Given the description of an element on the screen output the (x, y) to click on. 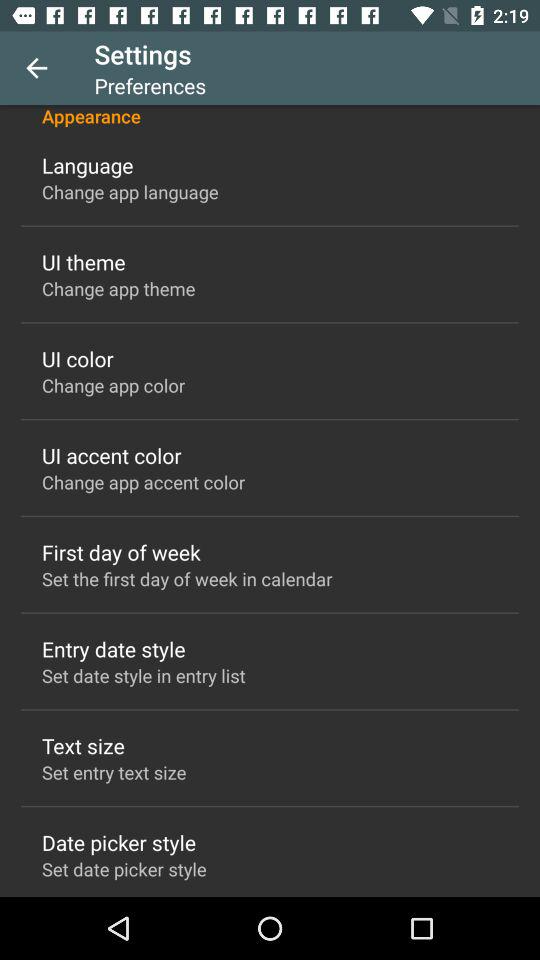
launch appearance icon (270, 116)
